Given the description of an element on the screen output the (x, y) to click on. 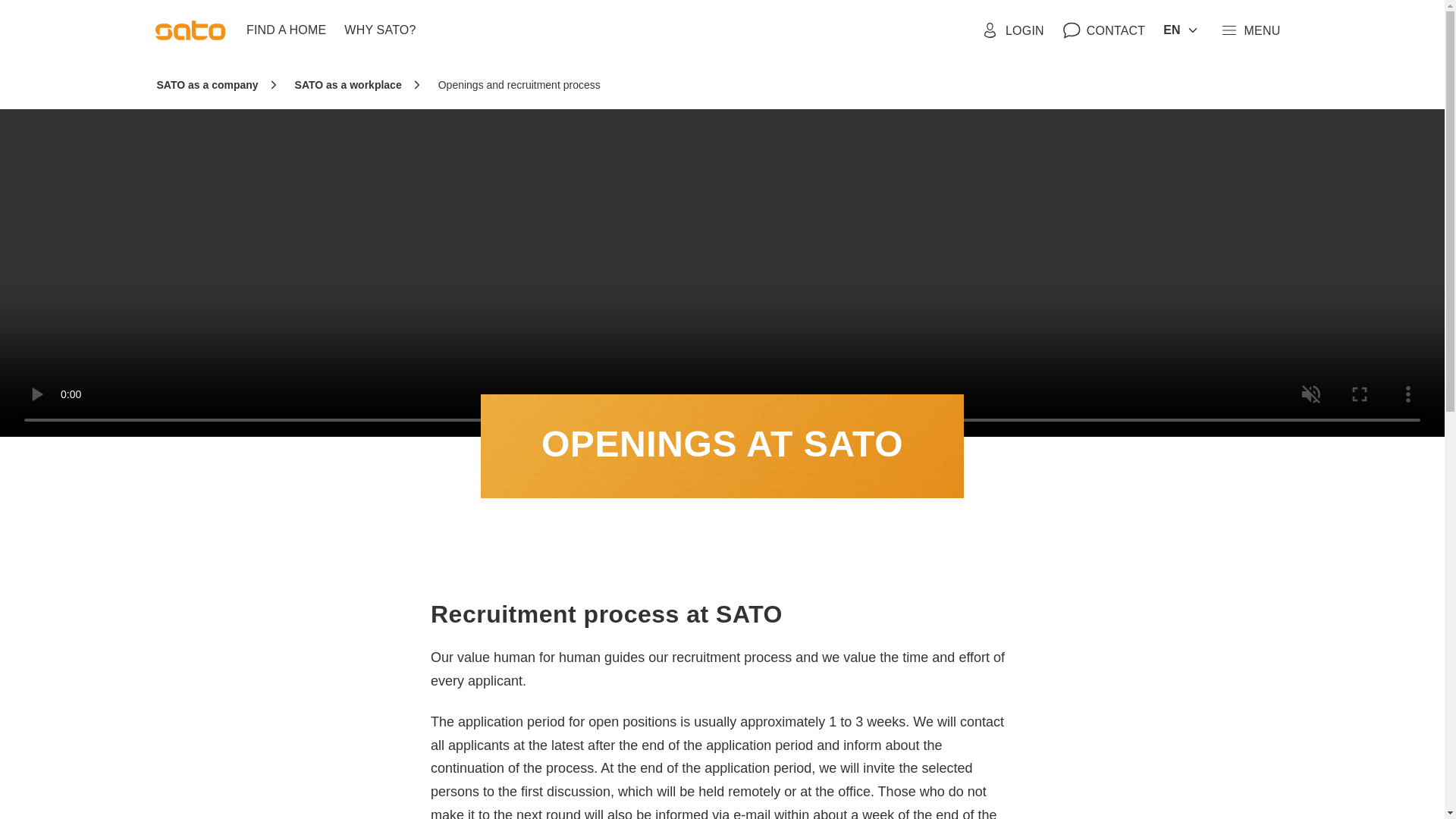
WHY SATO? (379, 30)
SATO as a workplace (348, 84)
CONTACT (1103, 30)
EN (1181, 30)
Openings and recruitment process (518, 84)
FIND A HOME (284, 30)
EN (1181, 30)
SATO as a company (206, 84)
MENU (1250, 30)
LOGIN (1012, 30)
